Given the description of an element on the screen output the (x, y) to click on. 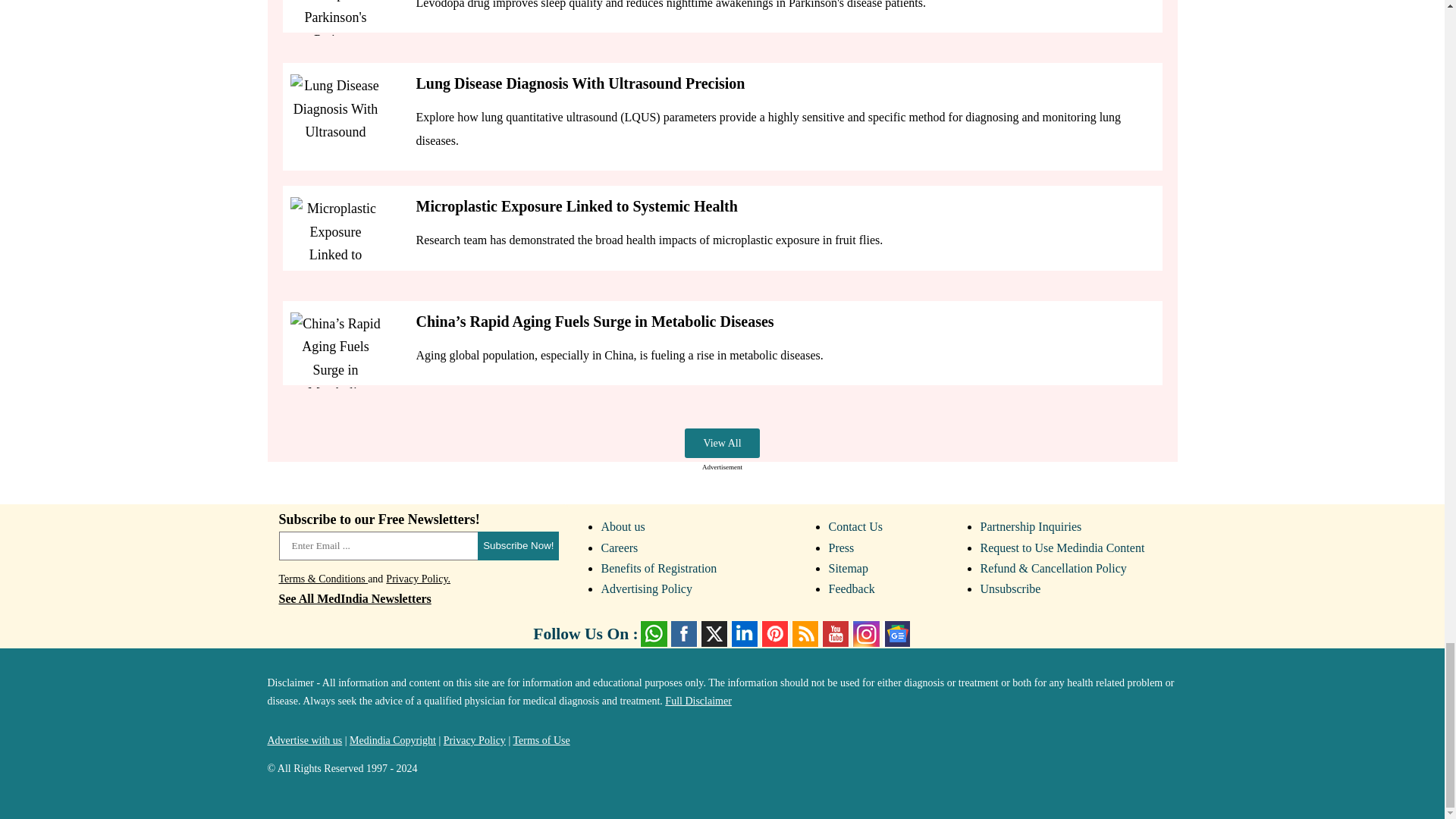
Subscribe Now! (518, 545)
Improving Sleep in Parkinson's Patients (334, 18)
